Given the description of an element on the screen output the (x, y) to click on. 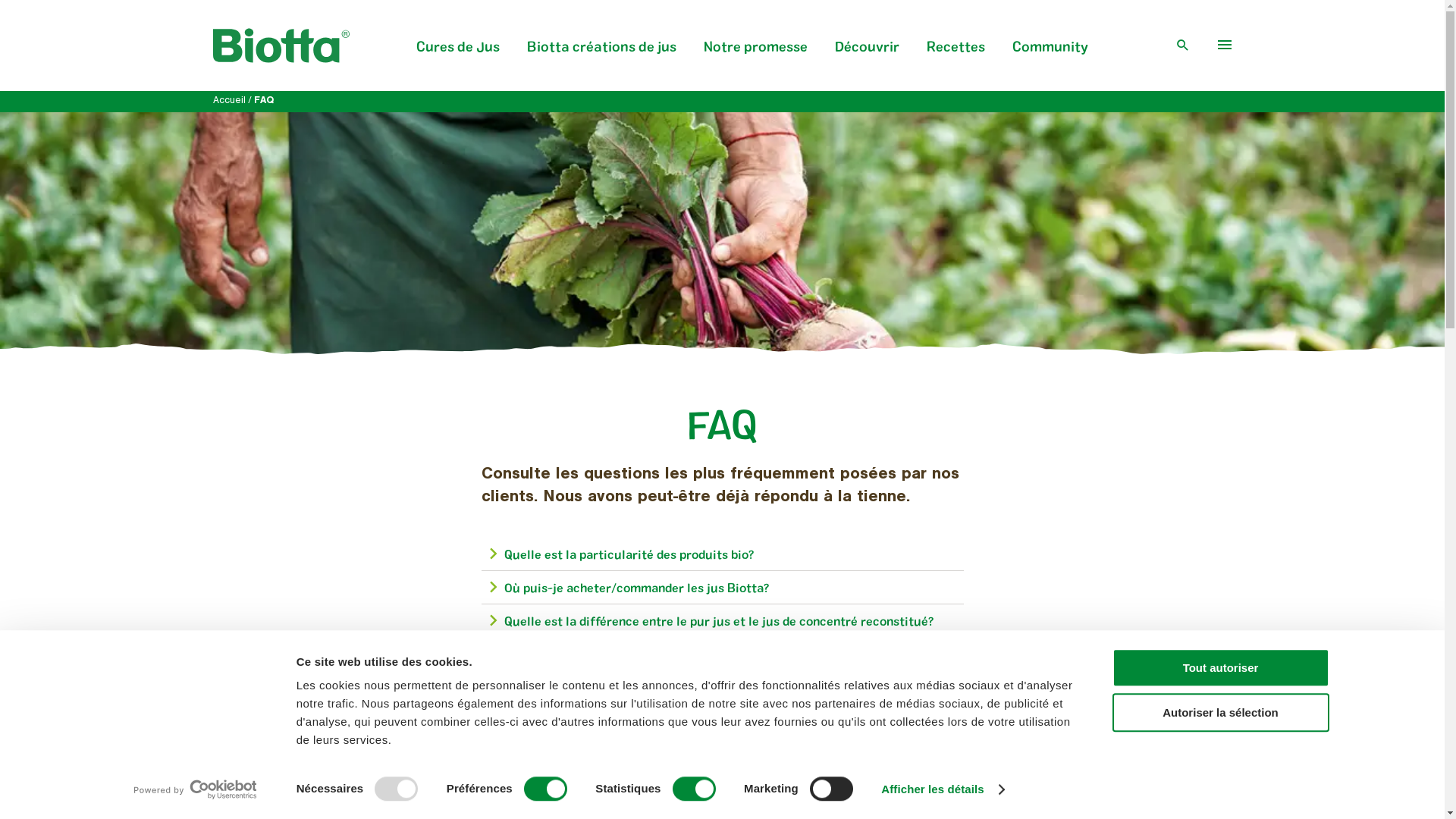
Community Element type: text (1050, 54)
Notre promesse Element type: text (755, 54)
FAQ Element type: text (263, 101)
Recettes Element type: text (955, 54)
Tout autoriser Element type: text (1219, 667)
Cures de Jus Element type: text (457, 54)
Accueil Element type: text (228, 101)
